Given the description of an element on the screen output the (x, y) to click on. 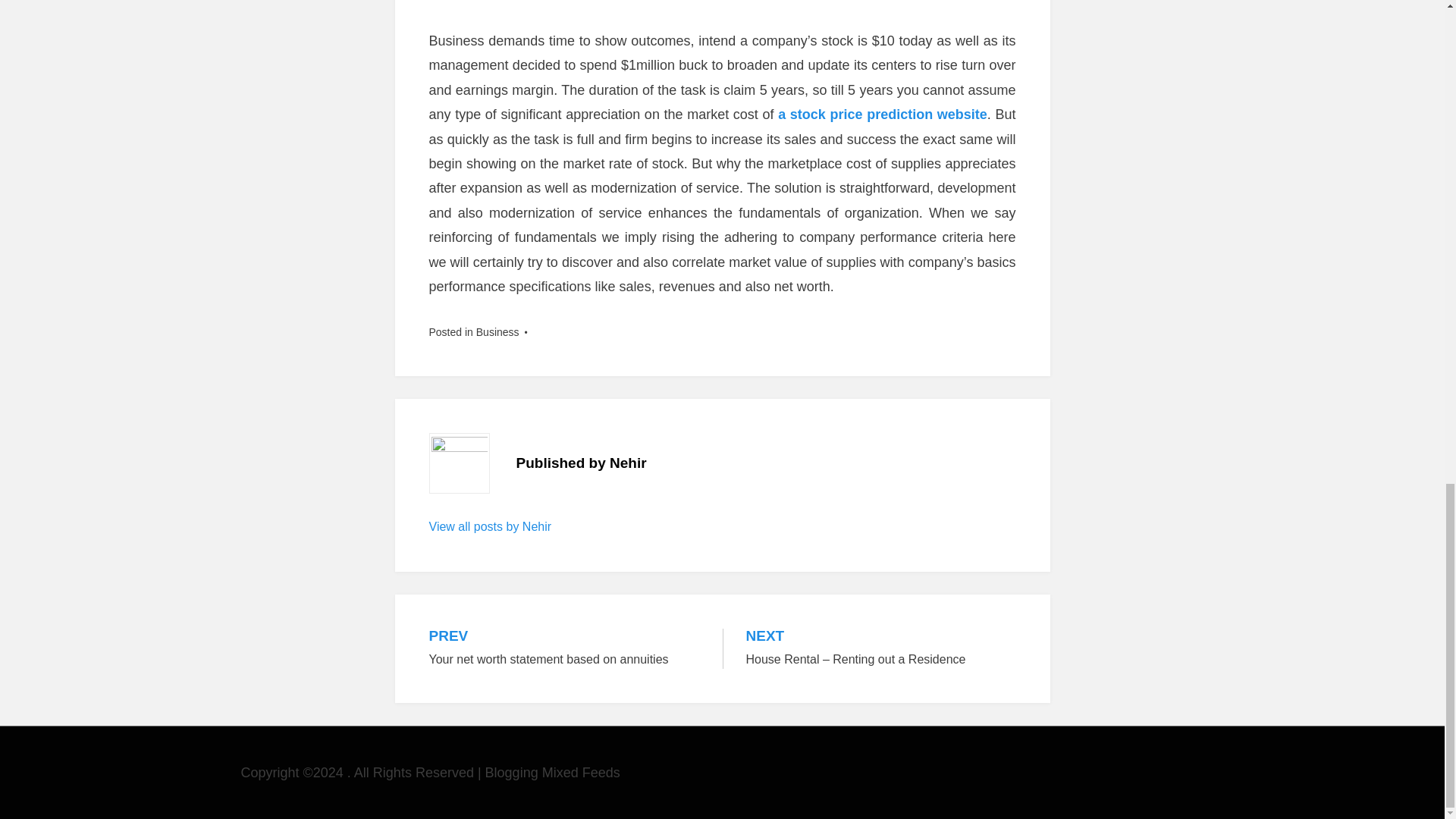
Business (497, 331)
a stock price prediction website (564, 648)
View all posts by Nehir (882, 114)
